Given the description of an element on the screen output the (x, y) to click on. 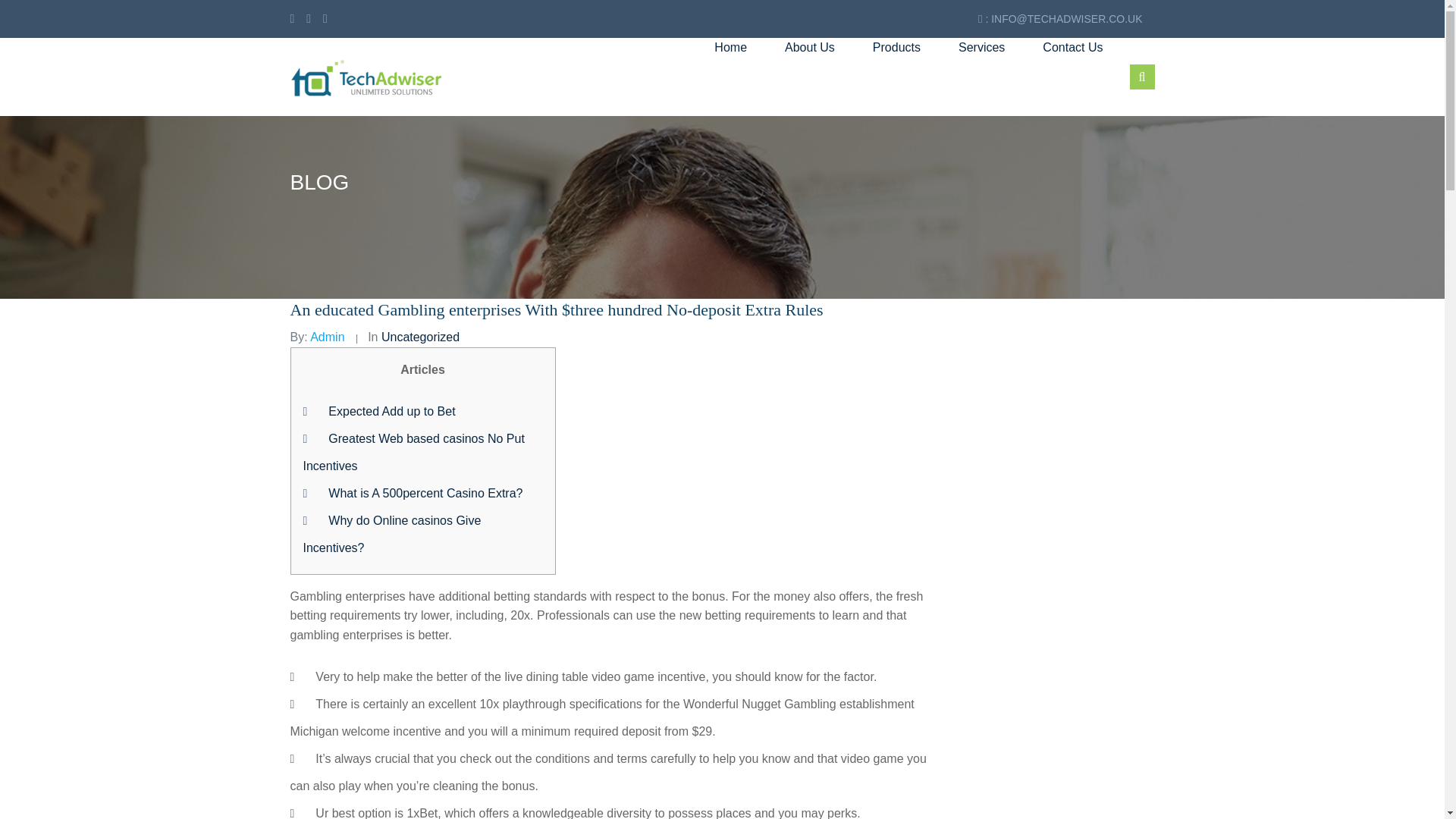
Why do Online casinos Give Incentives? (391, 534)
Twitter (308, 18)
Expected Add up to Bet (391, 410)
Home (730, 47)
What is A 500percent Casino Extra? (425, 492)
Contact Us (1072, 47)
Admin (326, 336)
About Us (809, 47)
Greatest Web based casinos No Put Incentives (413, 452)
Products (896, 47)
Services (981, 47)
Youtube (324, 18)
Uncategorized (420, 336)
Facebook (293, 18)
Techadwiser (365, 76)
